Given the description of an element on the screen output the (x, y) to click on. 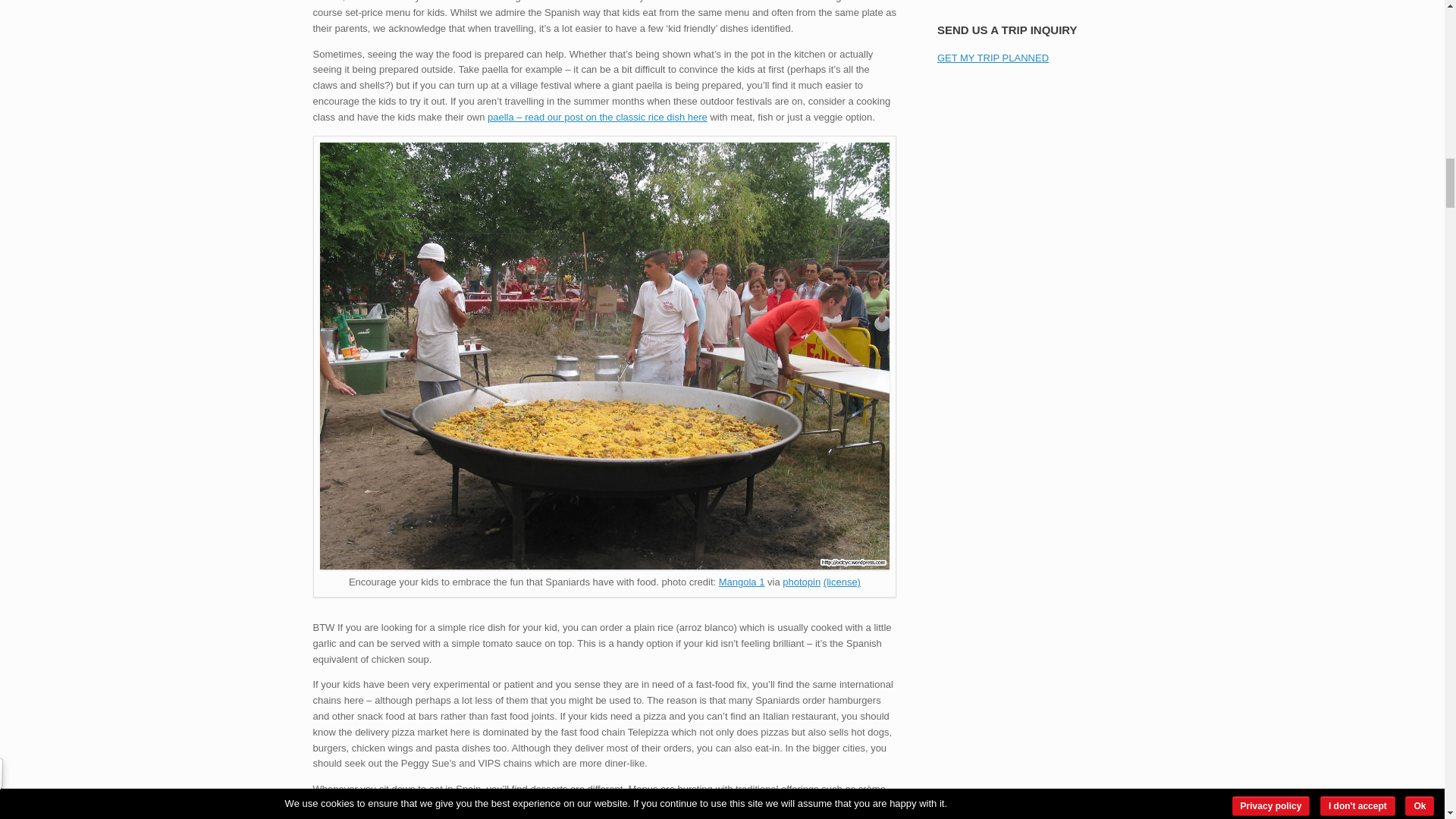
photopin (802, 582)
Mangola 1 (742, 582)
